Given the description of an element on the screen output the (x, y) to click on. 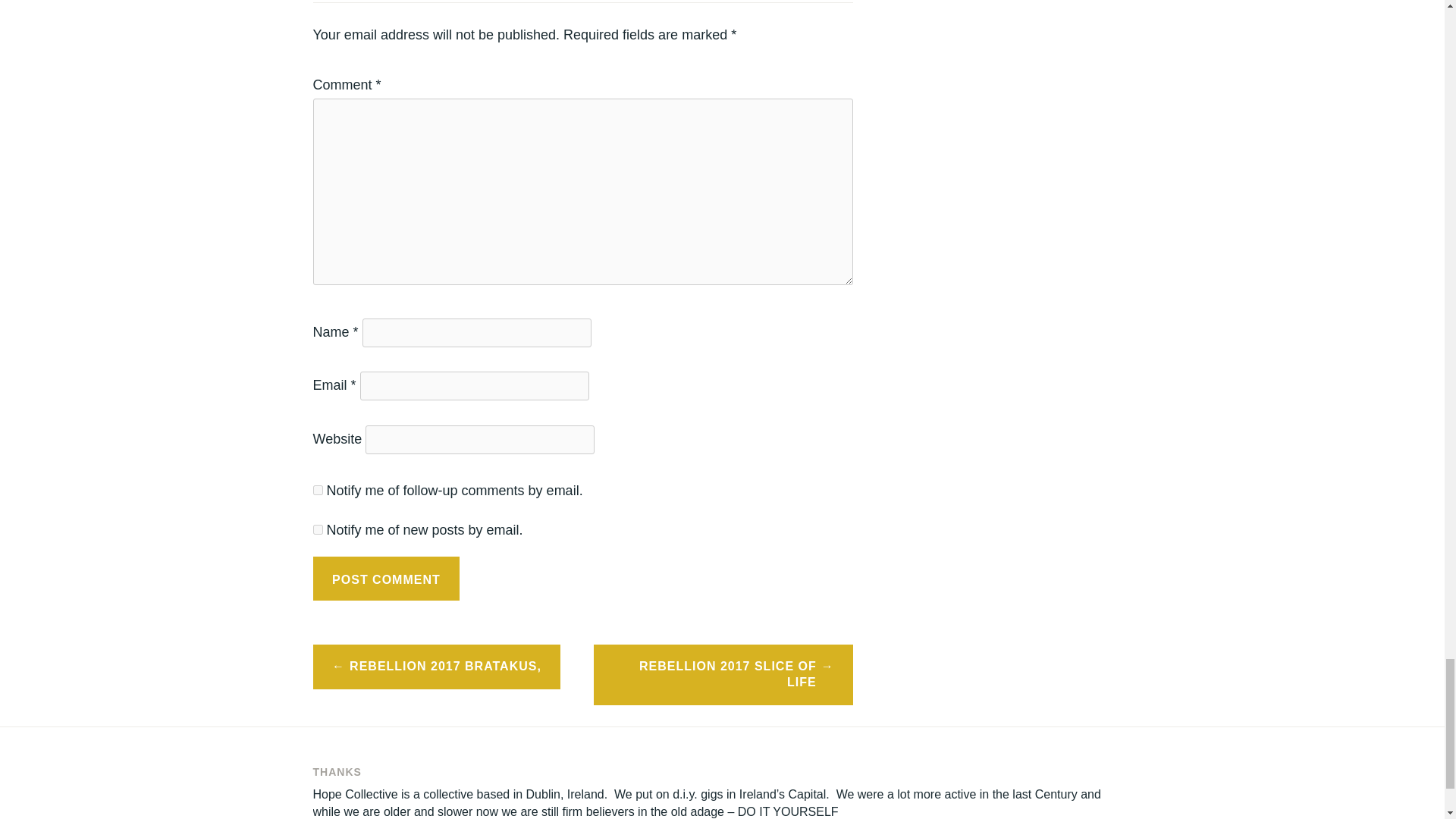
subscribe (317, 490)
Post Comment (386, 578)
subscribe (317, 529)
